Given the description of an element on the screen output the (x, y) to click on. 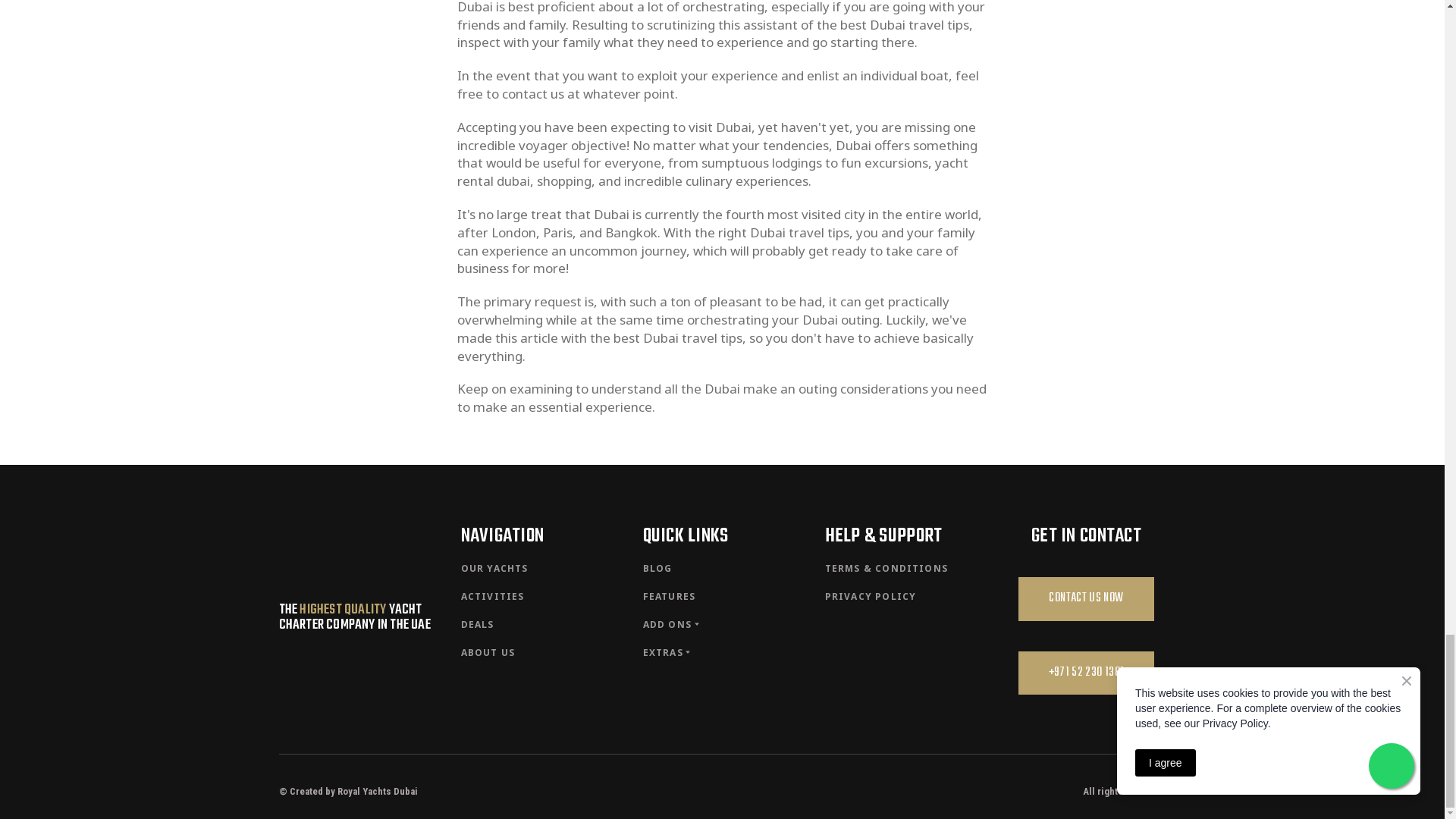
BLOG (657, 567)
ABOUT US (488, 652)
FEATURES (669, 595)
YACHT CHARTER COMPANY (350, 617)
DEALS (478, 624)
OUR YACHTS (494, 567)
ACTIVITIES (492, 595)
